Given the description of an element on the screen output the (x, y) to click on. 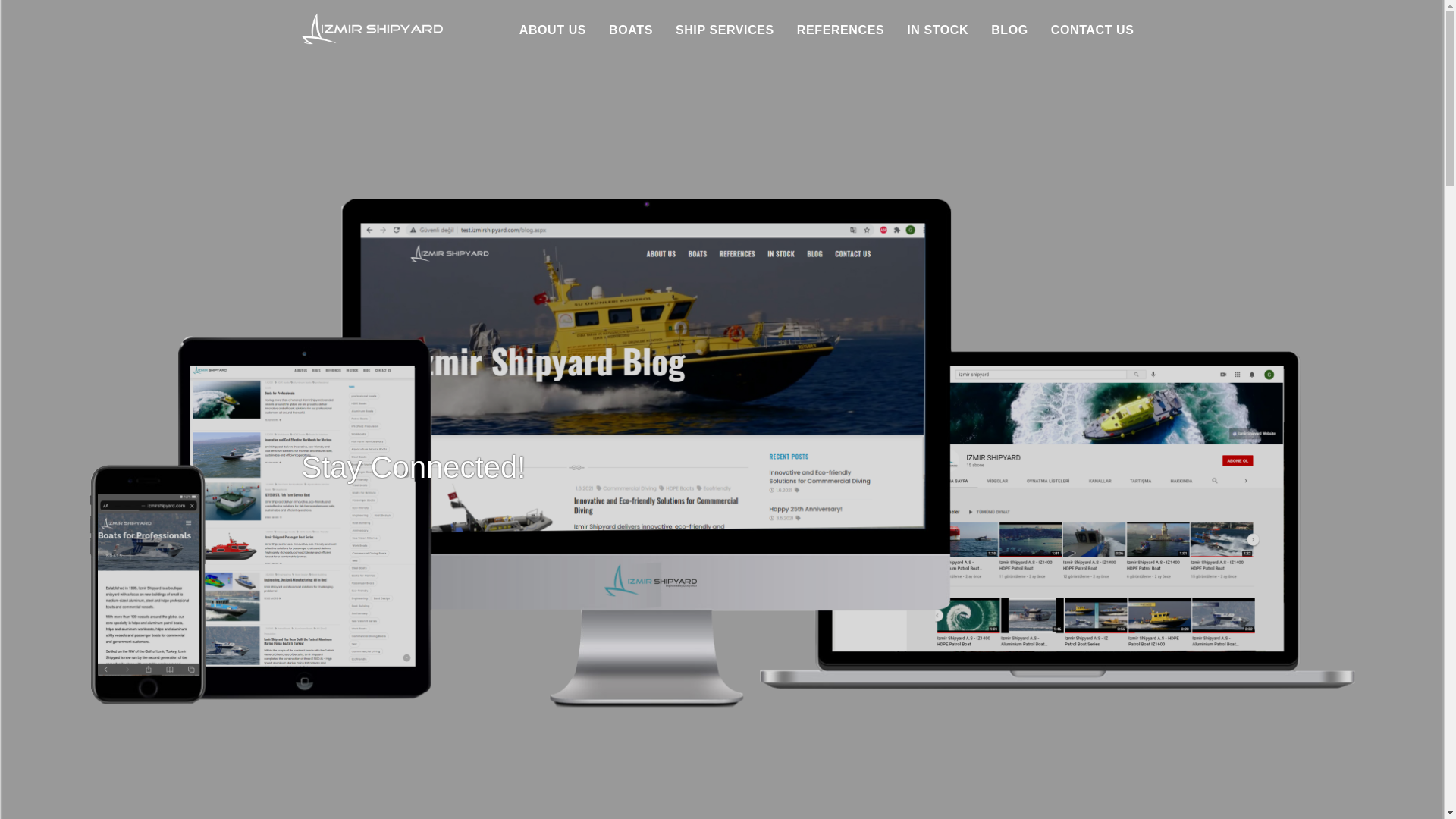
CONTACT US (1092, 29)
IN STOCK (937, 29)
izmir shipyard (371, 32)
ABOUT US (553, 29)
SHIP SERVICES (724, 29)
BLOG (1008, 29)
BOATS (630, 29)
REFERENCES (840, 29)
